Given the description of an element on the screen output the (x, y) to click on. 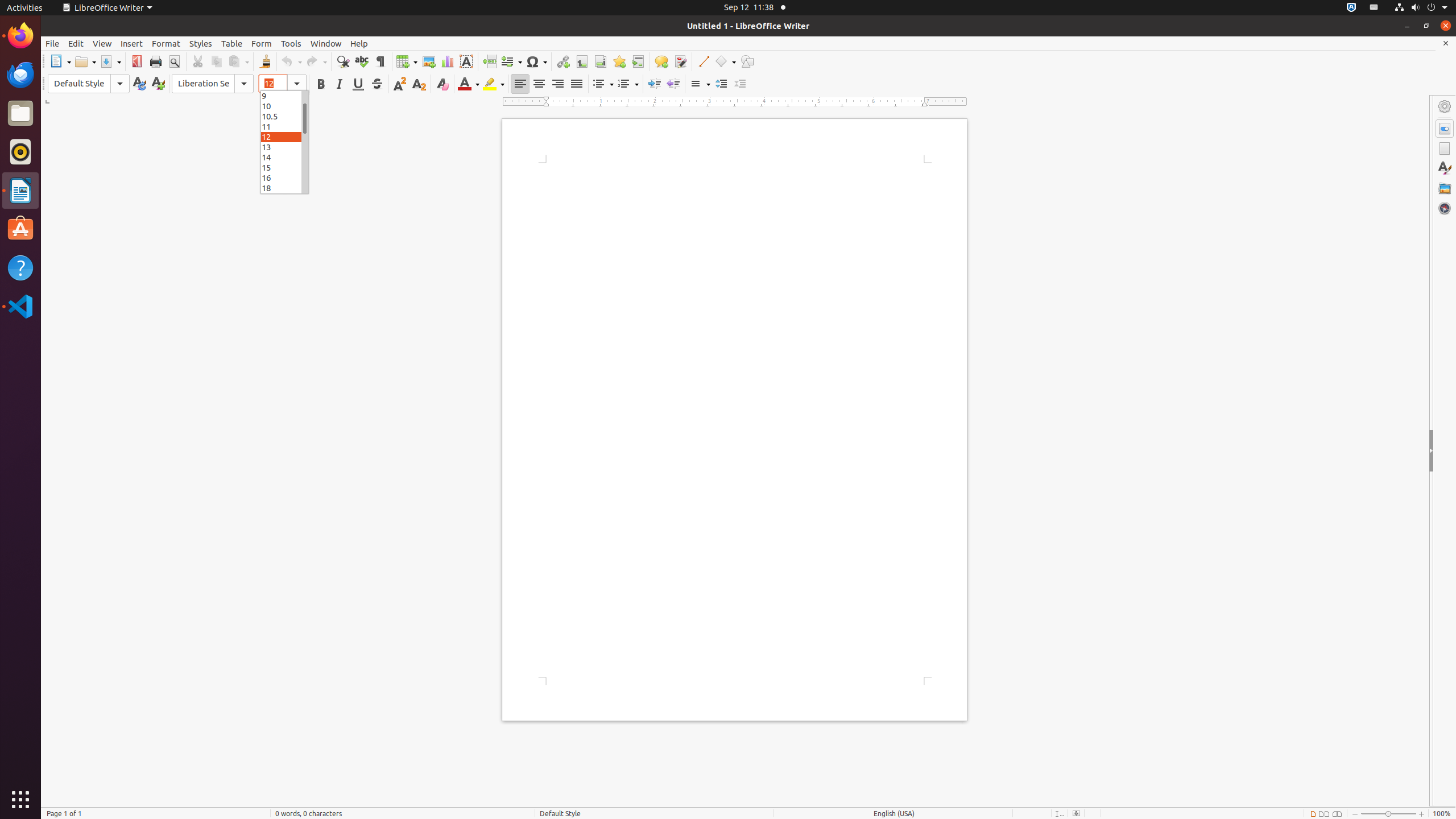
Subscript Element type: toggle-button (418, 83)
Numbering Element type: push-button (627, 83)
Endnote Element type: push-button (599, 61)
Underline Element type: push-button (357, 83)
14 Element type: list-item (284, 156)
